Given the description of an element on the screen output the (x, y) to click on. 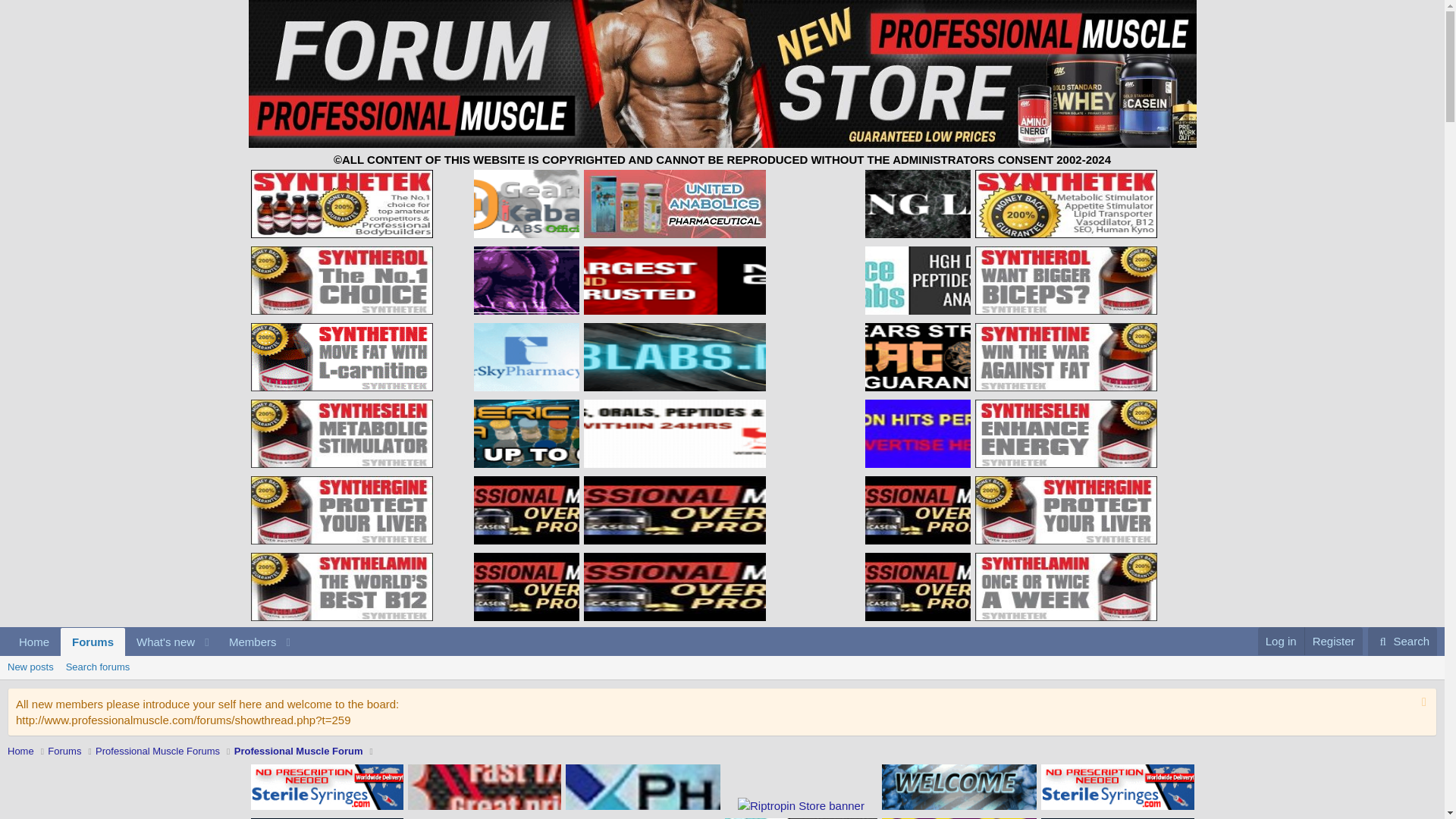
Professional Muscle Store (526, 586)
Synthetek Industries (1066, 280)
Gear Depot (526, 203)
Forums (93, 642)
Synthetek Industries (341, 280)
What's new (160, 642)
Professional Muscle Store (917, 509)
Synthetek Industries (341, 203)
Synthetek Industries (341, 433)
Synthetek Industries (152, 642)
Synthetek Industries (341, 356)
Synthetek Industries (1066, 433)
United Anabolics (1066, 203)
Synthetek Industries (674, 203)
